Given the description of an element on the screen output the (x, y) to click on. 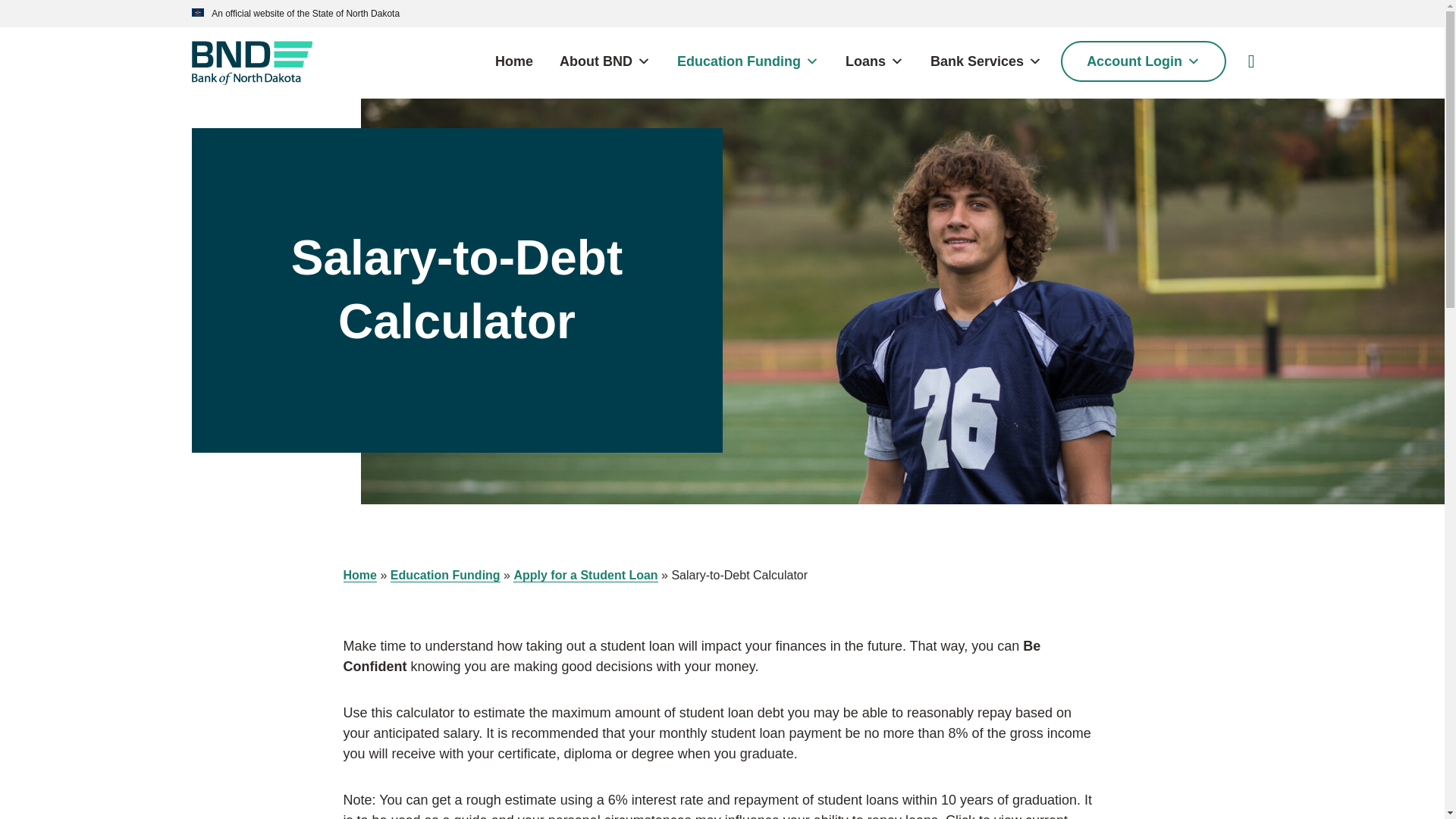
Home (513, 60)
About BND (604, 60)
Education Funding (748, 60)
An official website of the State of North Dakota (302, 13)
